Given the description of an element on the screen output the (x, y) to click on. 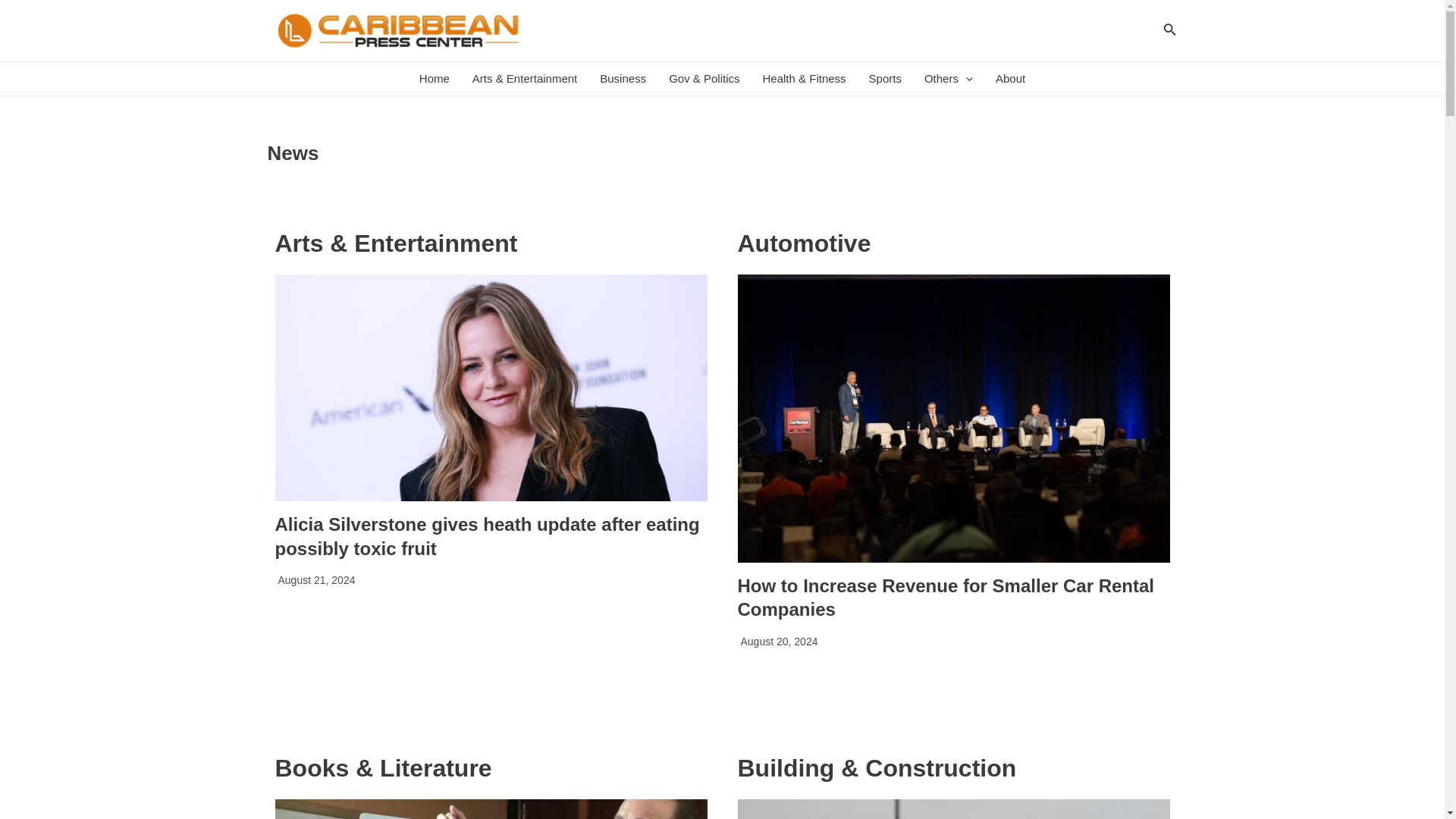
Business (623, 78)
Sports (884, 78)
Others (948, 78)
About (1010, 78)
Home (434, 78)
